Given the description of an element on the screen output the (x, y) to click on. 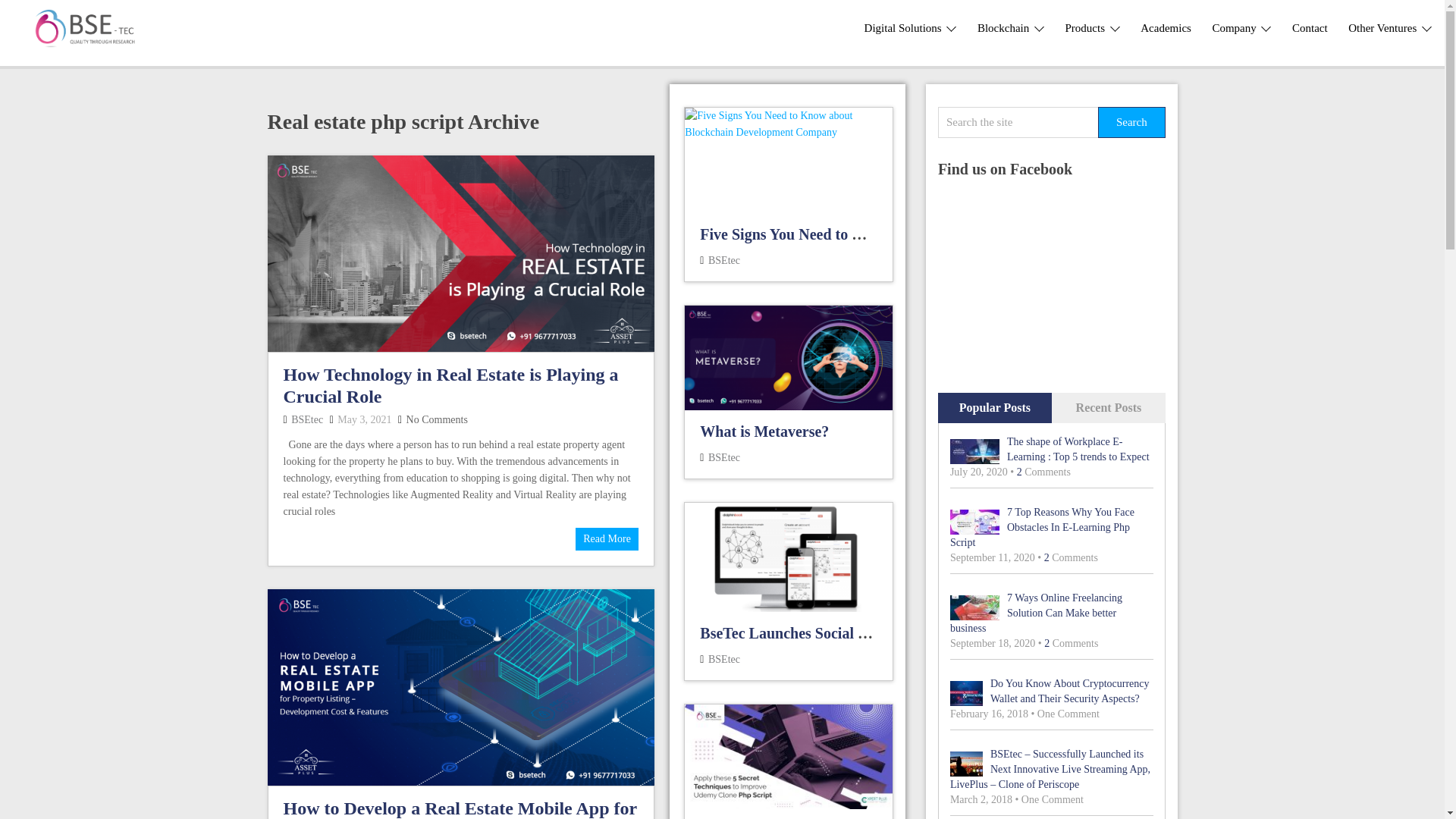
How Technology in Real Estate is Playing a Crucial Role (450, 385)
Search the site (1017, 122)
Posts by BSEtec (307, 419)
Search (1131, 122)
How Technology in Real Estate is Playing a Crucial Role (607, 538)
Digital Solutions (910, 28)
How Technology in Real Estate is Playing a Crucial Role (459, 253)
